Given the description of an element on the screen output the (x, y) to click on. 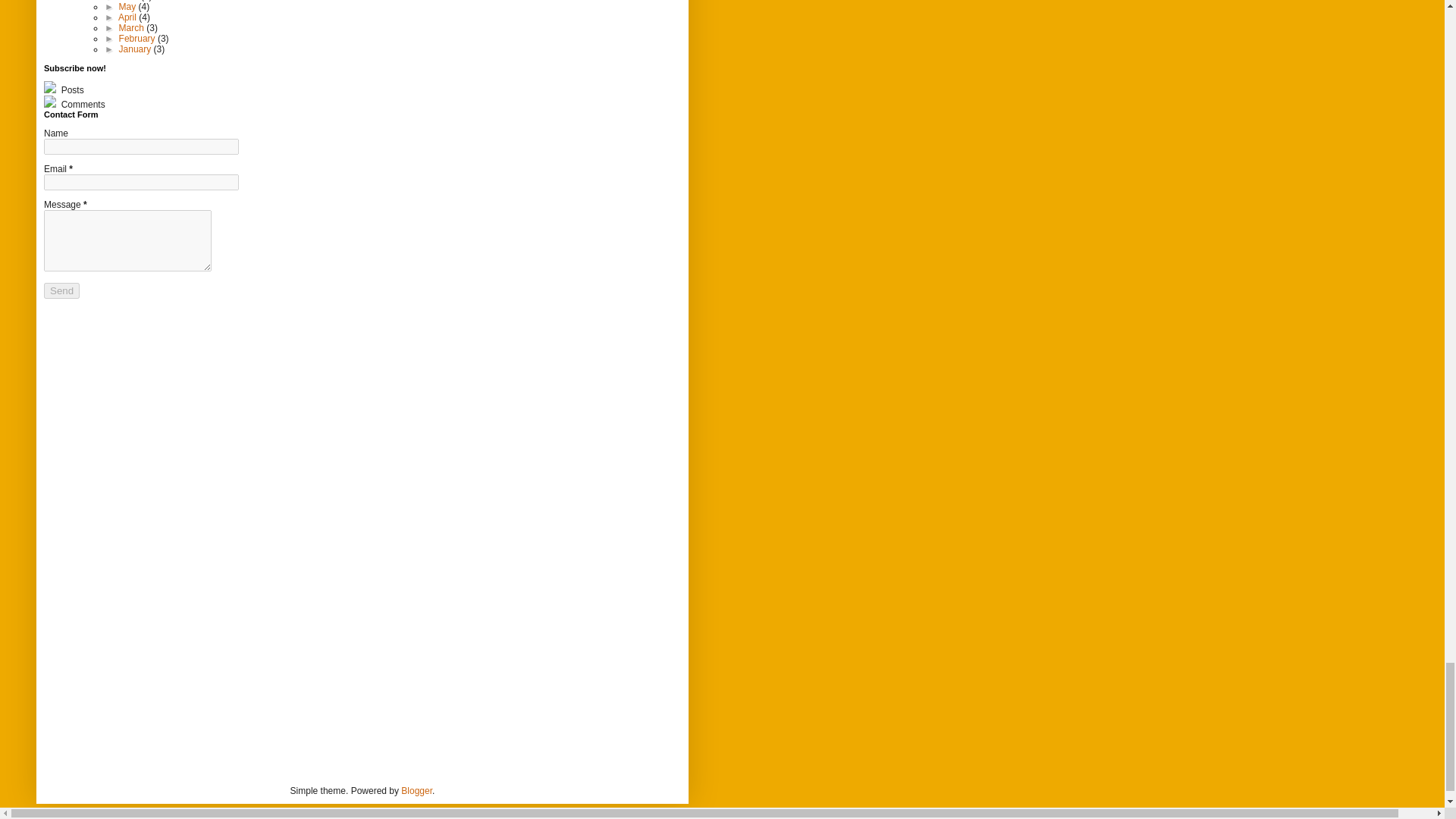
Send (61, 290)
